Given the description of an element on the screen output the (x, y) to click on. 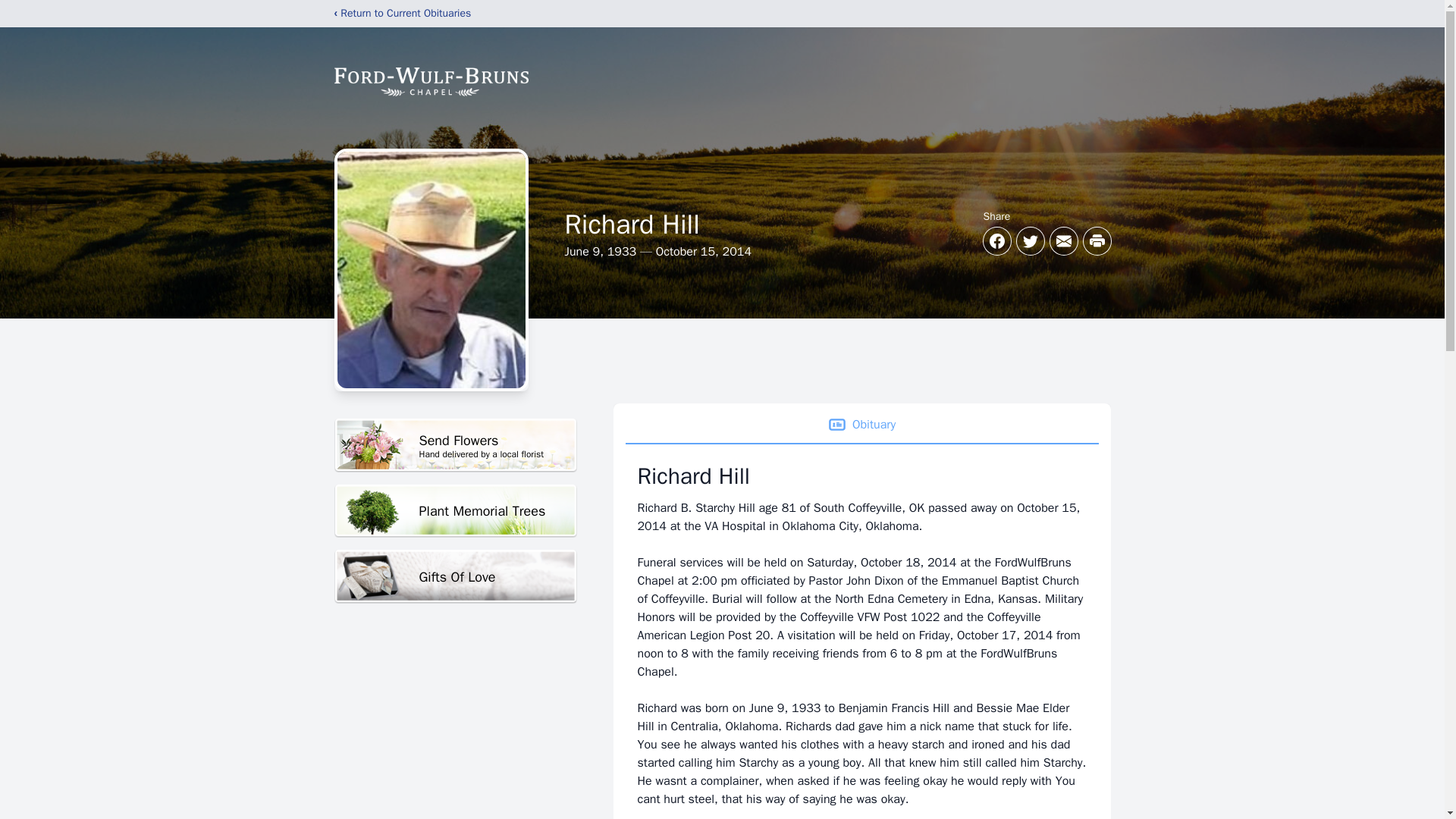
Obituary (860, 425)
Gifts Of Love (454, 576)
Plant Memorial Trees (454, 445)
